Given the description of an element on the screen output the (x, y) to click on. 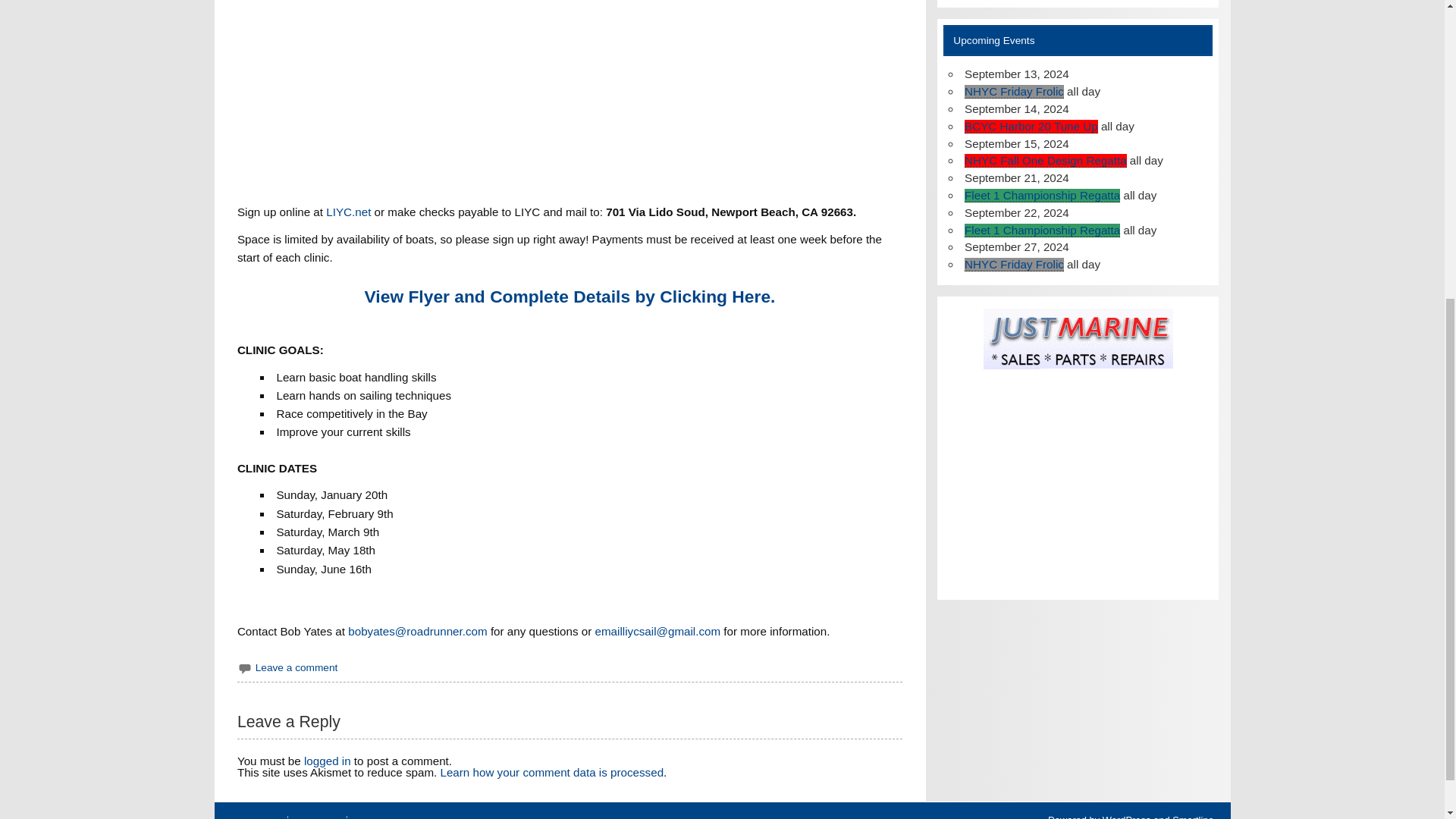
Page 1 (569, 631)
Page 1 (569, 618)
Page 1 (569, 550)
